Given the description of an element on the screen output the (x, y) to click on. 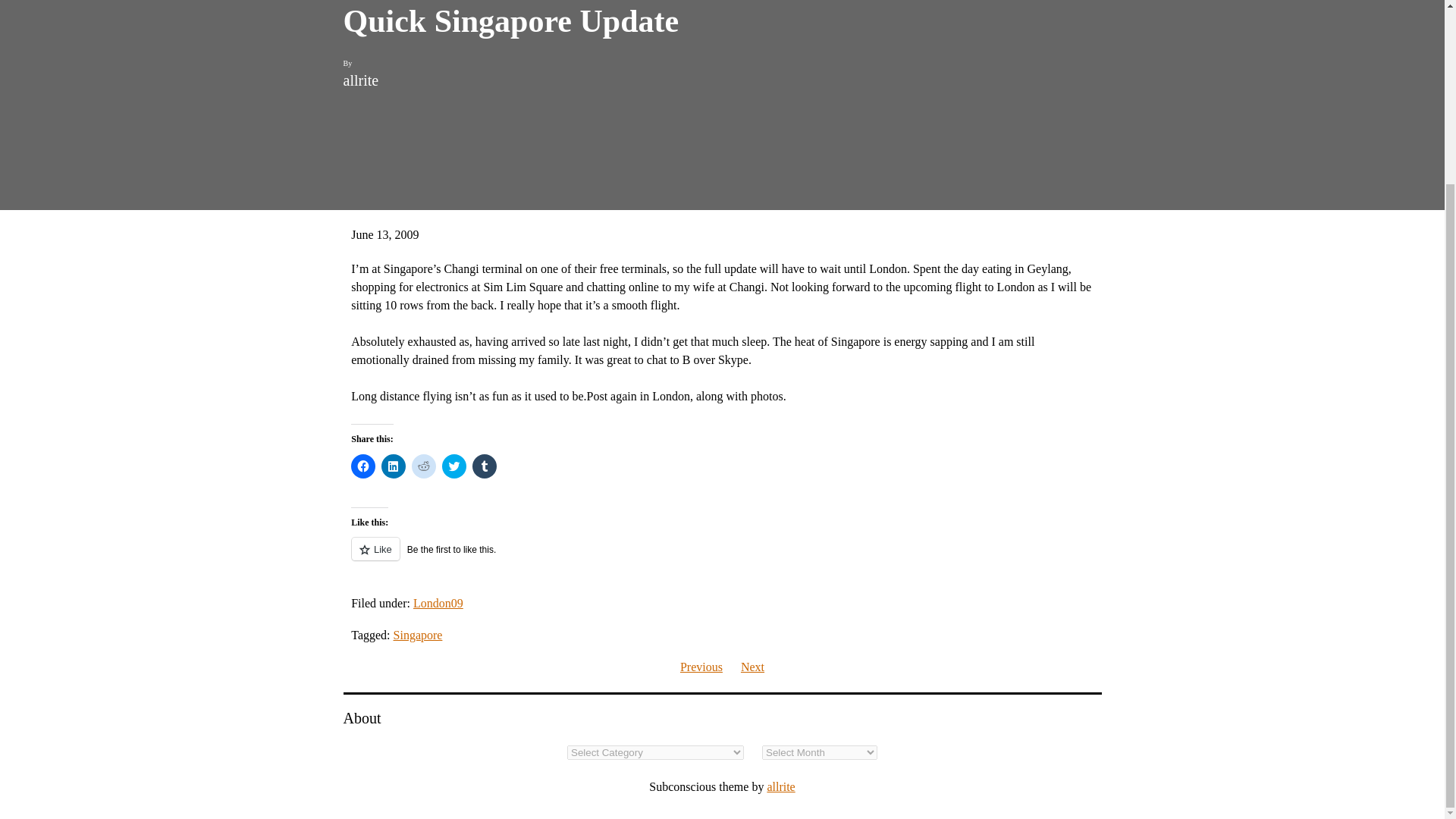
Previous (700, 666)
Singapore (417, 634)
Click to share on Twitter (453, 466)
Next (752, 666)
allrite (780, 786)
About (361, 718)
Click to share on Facebook (362, 466)
Click to share on LinkedIn (393, 466)
London09 (438, 603)
Click to share on Reddit (423, 466)
Like or Reblog (721, 557)
Click to share on Tumblr (483, 466)
